Given the description of an element on the screen output the (x, y) to click on. 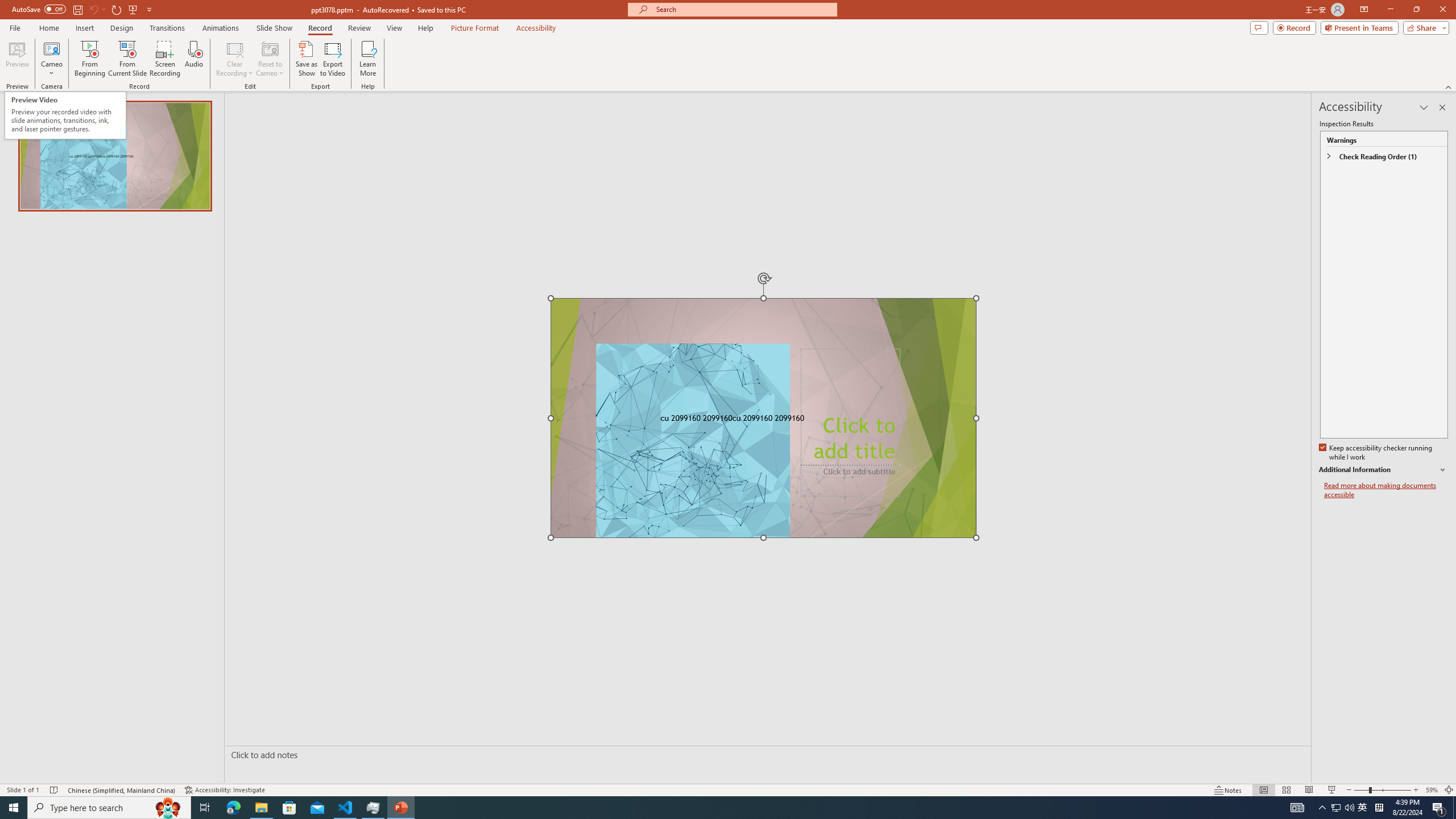
Audio (193, 58)
Picture Format (475, 28)
Export to Video (332, 58)
Keep accessibility checker running while I work (1376, 452)
Save as Show (306, 58)
